Given the description of an element on the screen output the (x, y) to click on. 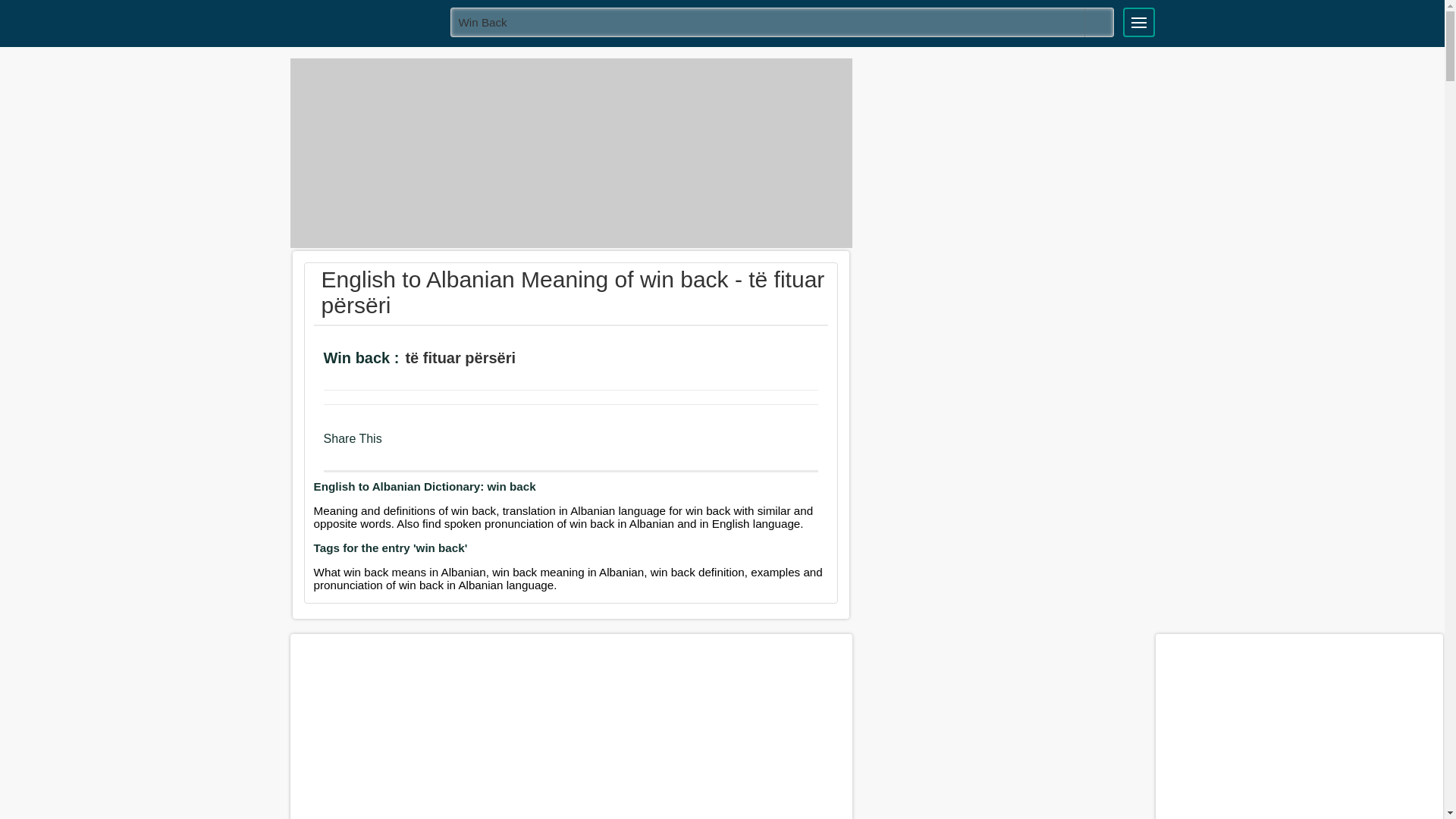
Twitter (428, 445)
More Share (485, 445)
Add To Favorites (583, 360)
Linkedin (458, 445)
Facebook (398, 445)
Search (1098, 22)
Say The Word (540, 360)
win back (782, 21)
ALBANIAN (365, 20)
